Given the description of an element on the screen output the (x, y) to click on. 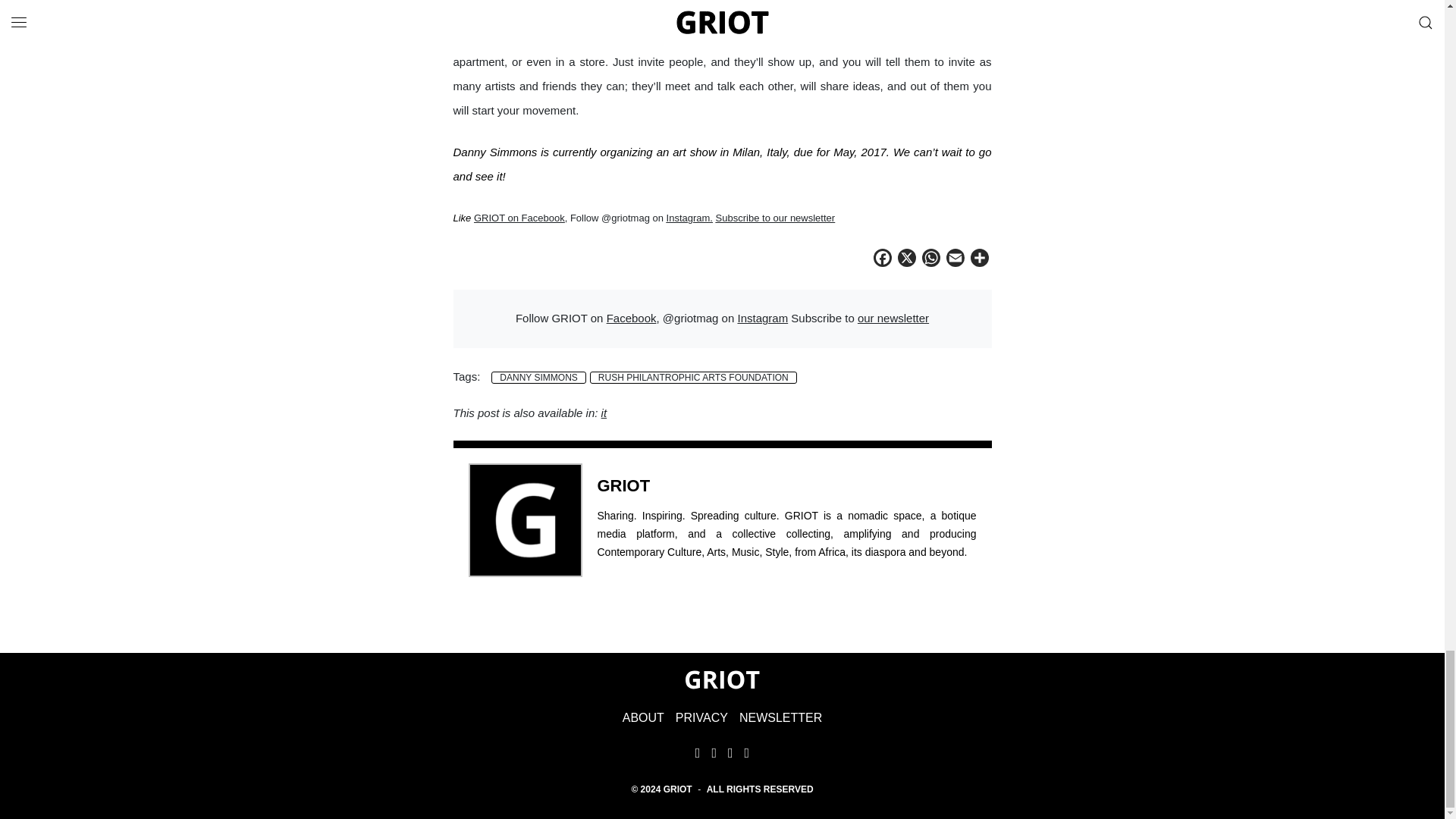
Instagram. (689, 217)
Subscribe to our newsletter (775, 217)
GRIOT on Facebook (519, 217)
Facebook (882, 259)
WhatsApp (930, 259)
Facebook (631, 318)
Email (955, 259)
X (906, 259)
Instagram (761, 318)
